Given the description of an element on the screen output the (x, y) to click on. 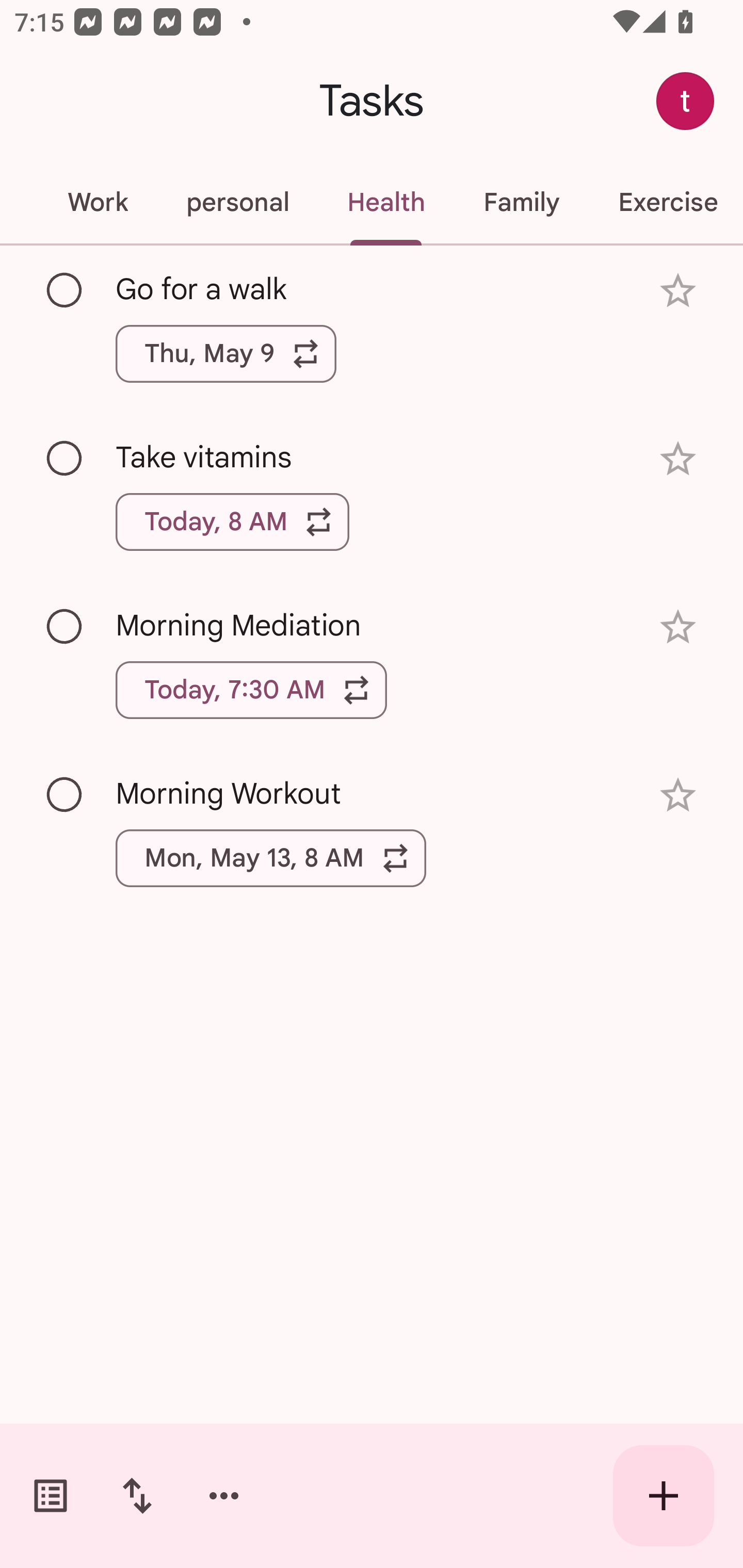
Work (96, 202)
personal (237, 202)
Family (520, 202)
Exercise (665, 202)
Add star (677, 290)
Mark as complete (64, 290)
Thu, May 9 (225, 353)
Add star (677, 458)
Mark as complete (64, 459)
Today, 8 AM (232, 522)
Add star (677, 627)
Mark as complete (64, 627)
Today, 7:30 AM (251, 689)
Add star (677, 795)
Mark as complete (64, 794)
Mon, May 13, 8 AM (270, 858)
Switch task lists (50, 1495)
Create new task (663, 1495)
Change sort order (136, 1495)
More options (223, 1495)
